Given the description of an element on the screen output the (x, y) to click on. 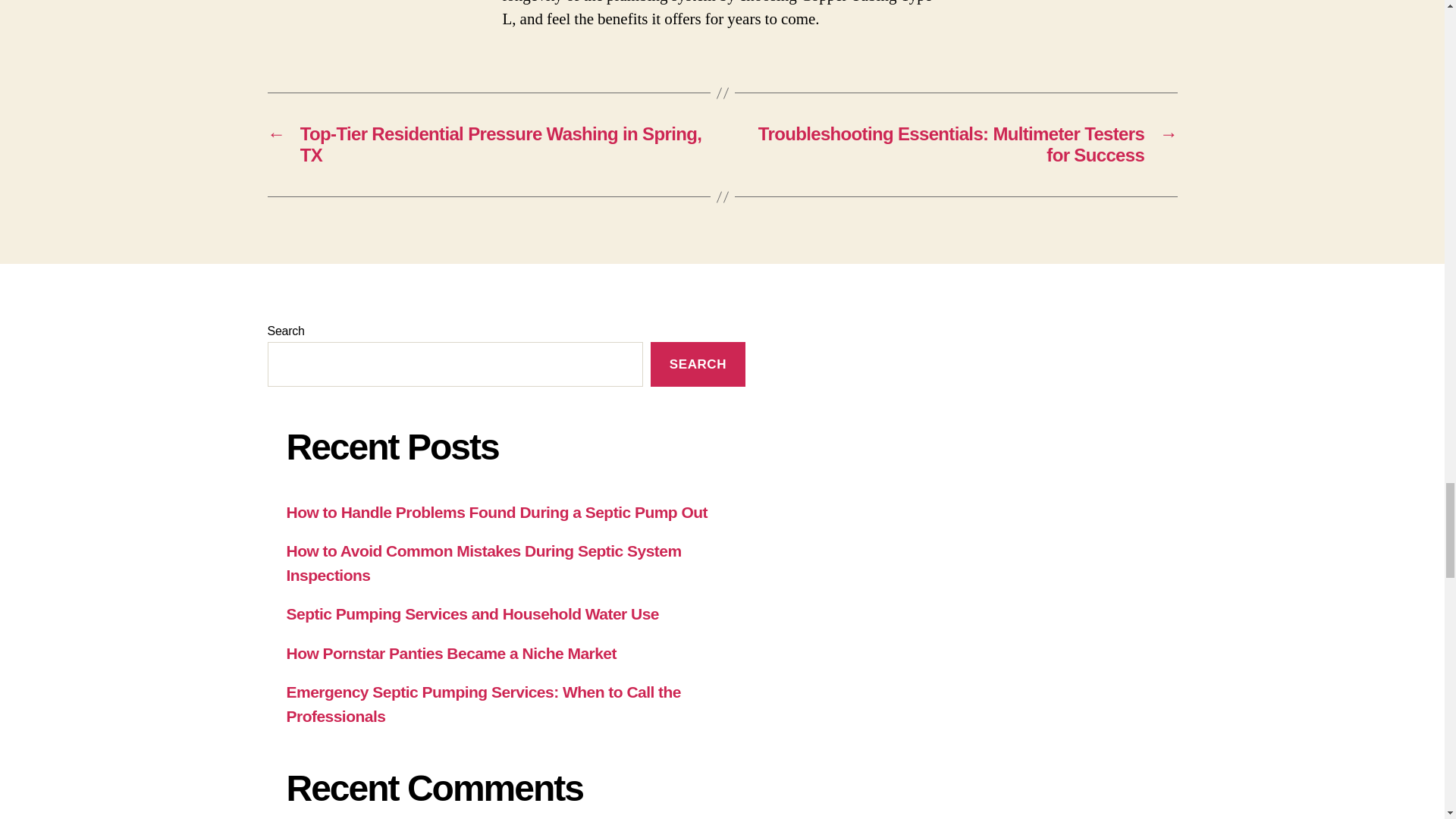
How Pornstar Panties Became a Niche Market (450, 652)
SEARCH (697, 364)
How to Handle Problems Found During a Septic Pump Out (496, 511)
Septic Pumping Services and Household Water Use (472, 613)
